Given the description of an element on the screen output the (x, y) to click on. 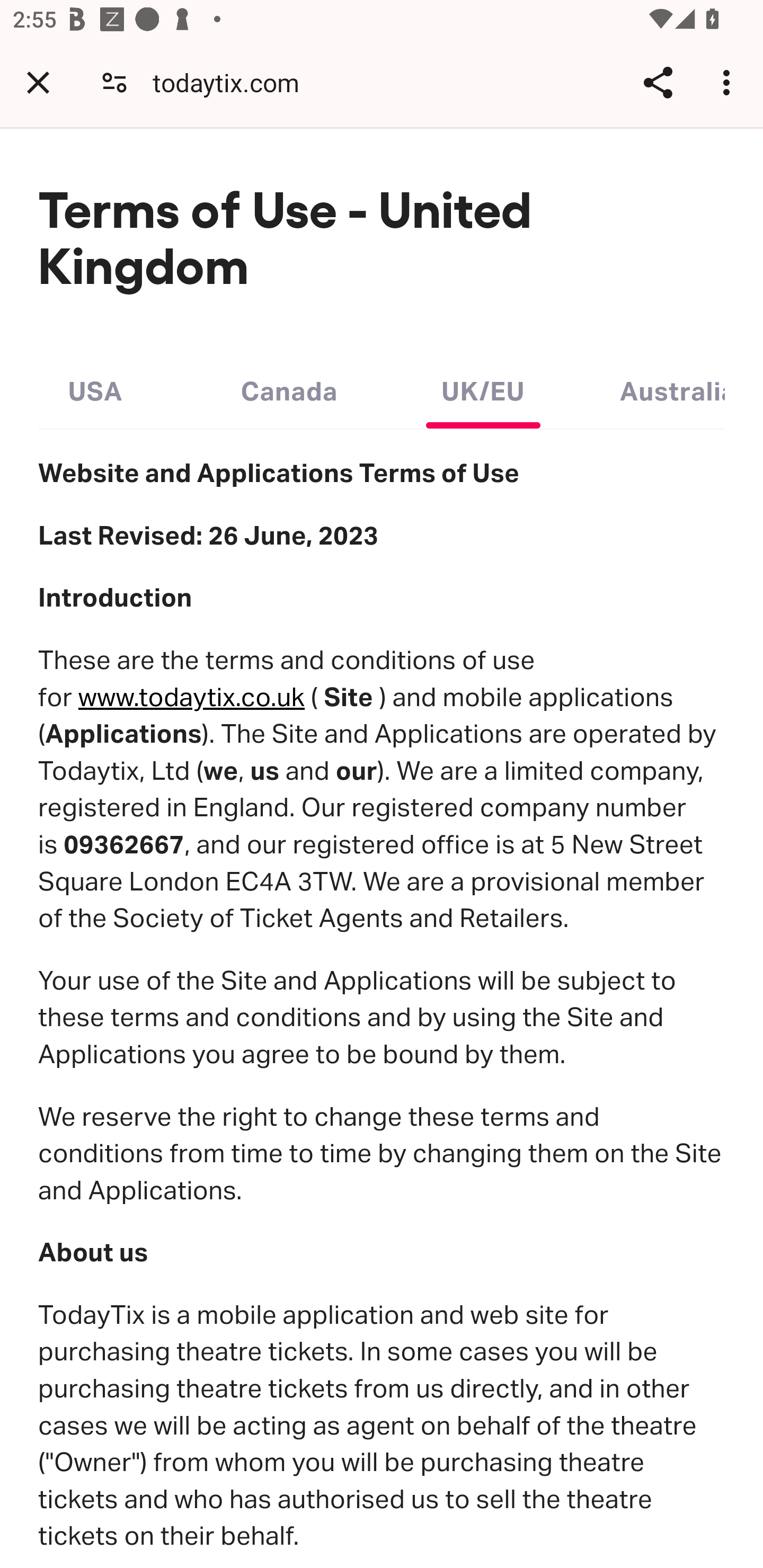
Close tab (38, 82)
Share (657, 82)
Customize and control Google Chrome (729, 82)
Connection is secure (114, 81)
todaytix.com (232, 81)
USA (95, 387)
Canada (288, 387)
UK/EU (482, 387)
www.todaytix.co.uk (191, 696)
